Given the description of an element on the screen output the (x, y) to click on. 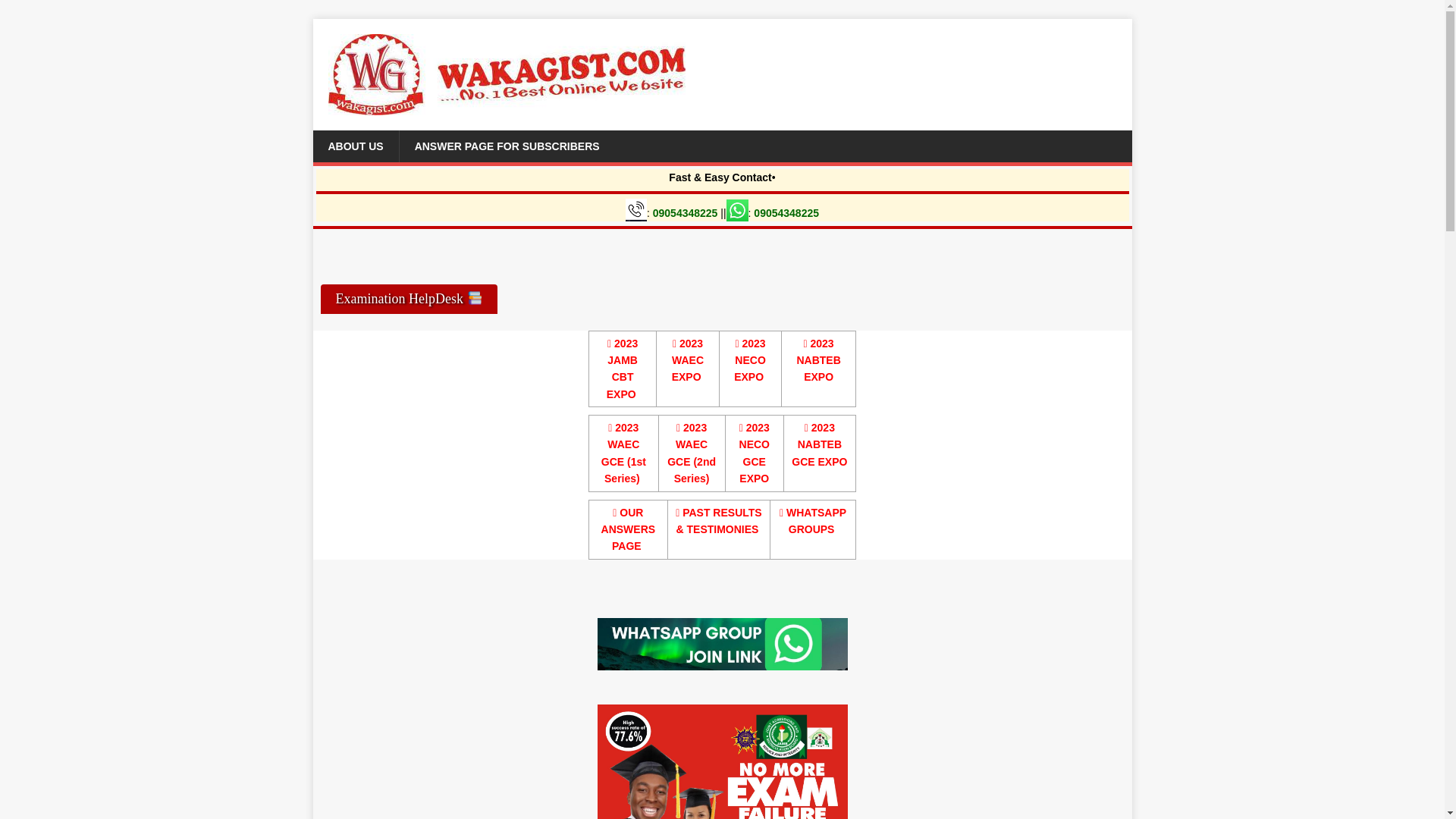
wakagist (721, 761)
All Examinations Whatsapp Groups By ExamWap - Wakagist.com (812, 521)
wakagist (721, 644)
 2023 NECO EXPO  (749, 359)
 WHATSAPP GROUPS  (812, 521)
ANSWER PAGE FOR SUBSCRIBERS (506, 146)
ABOUT US (355, 146)
 2023 WAEC EXPO  (687, 359)
 2023 NABTEB EXPO (818, 359)
